Given the description of an element on the screen output the (x, y) to click on. 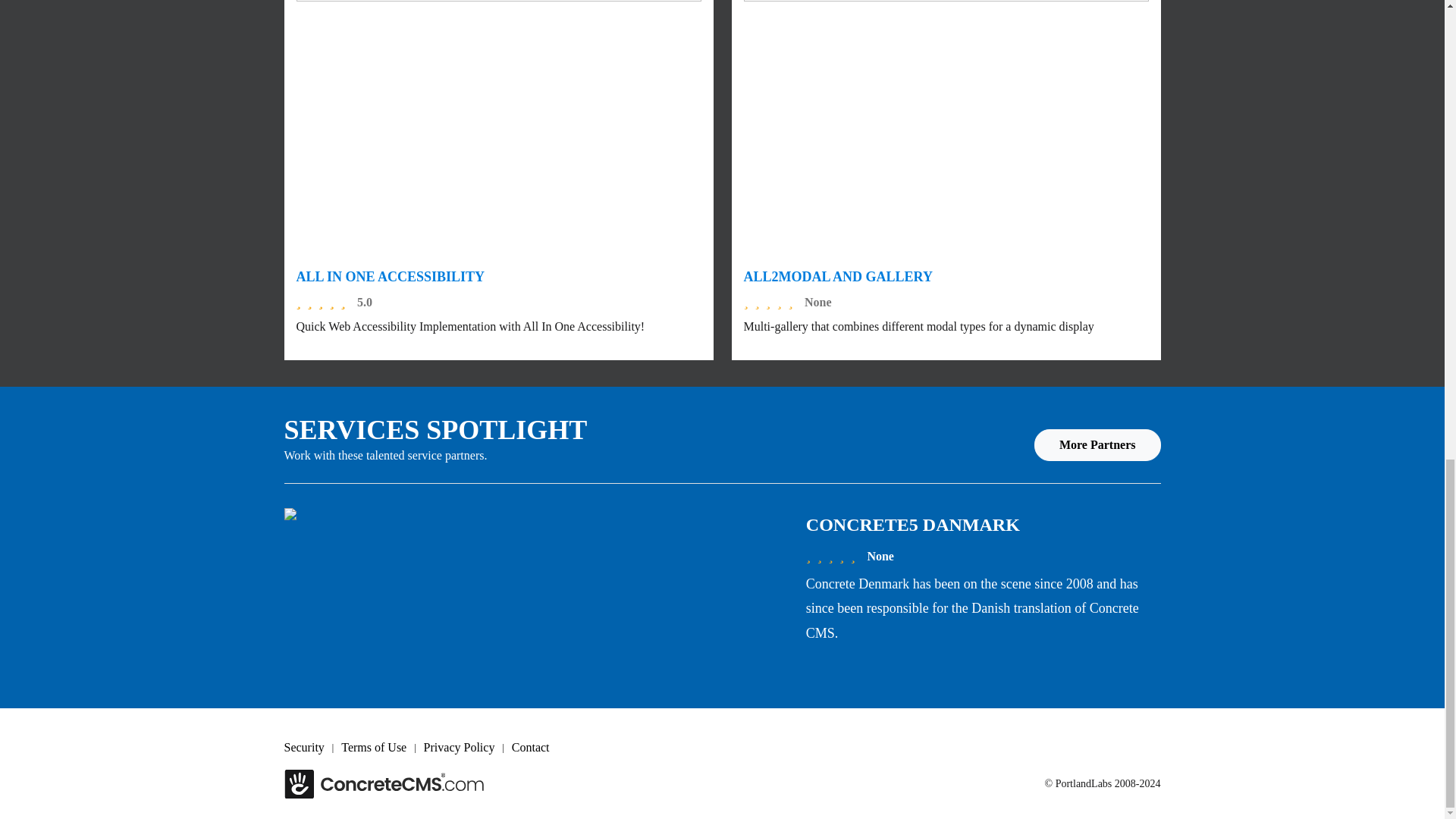
Privacy Policy (467, 747)
Security (311, 747)
CONCRETE5 DANMARK (913, 524)
ALL IN ONE ACCESSIBILITY (389, 276)
Contact (538, 747)
Terms of Use (381, 747)
More Partners (1096, 445)
ALL2MODAL AND GALLERY (836, 276)
